Given the description of an element on the screen output the (x, y) to click on. 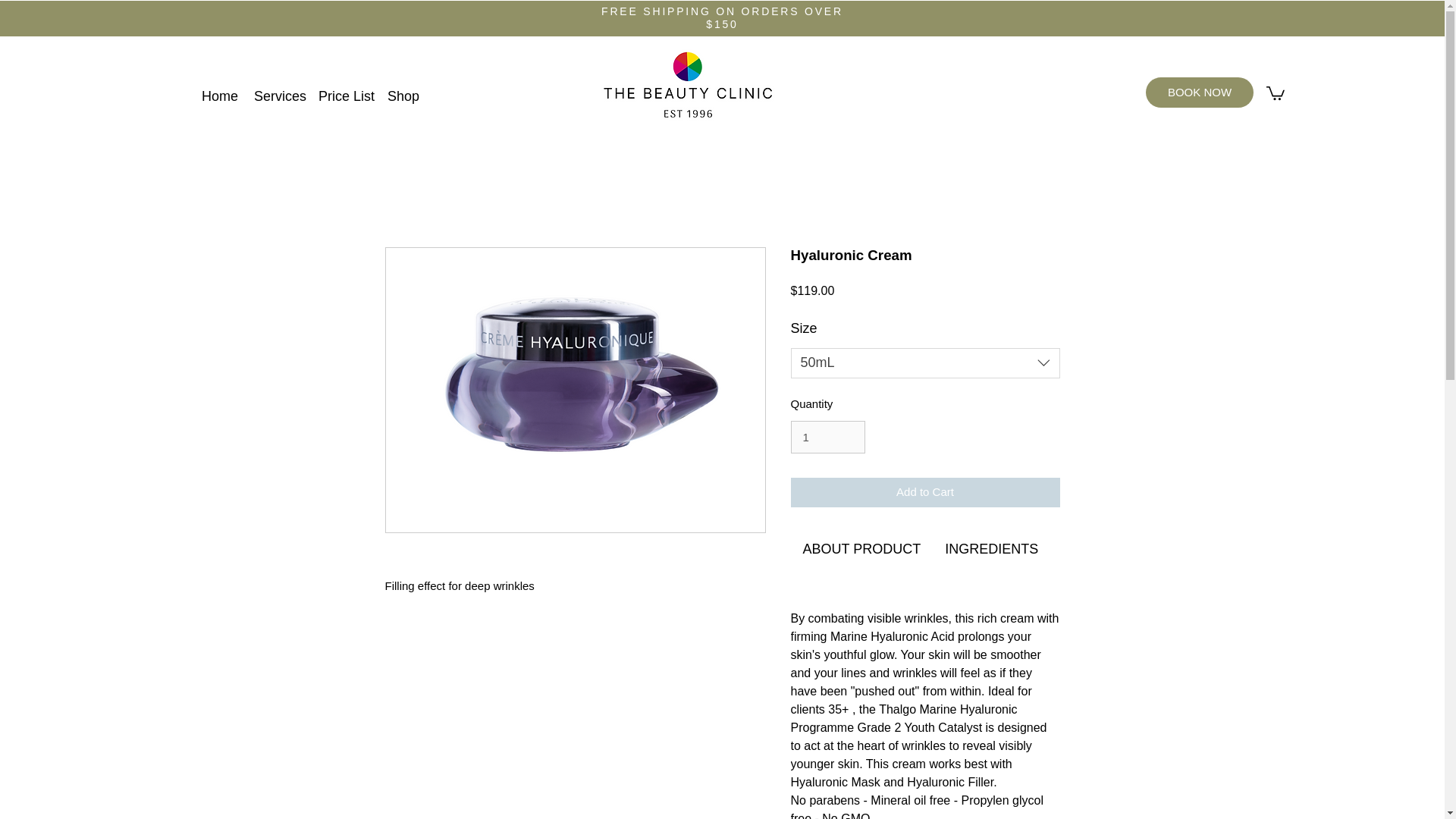
Price List (345, 96)
1 (827, 437)
Home (219, 96)
BOOK NOW (1199, 91)
Services (278, 96)
50mL (924, 363)
Add to Cart (924, 491)
Shop (403, 96)
Use right and left arrows to navigate between tabs (861, 549)
Use right and left arrows to navigate between tabs (991, 549)
